Given the description of an element on the screen output the (x, y) to click on. 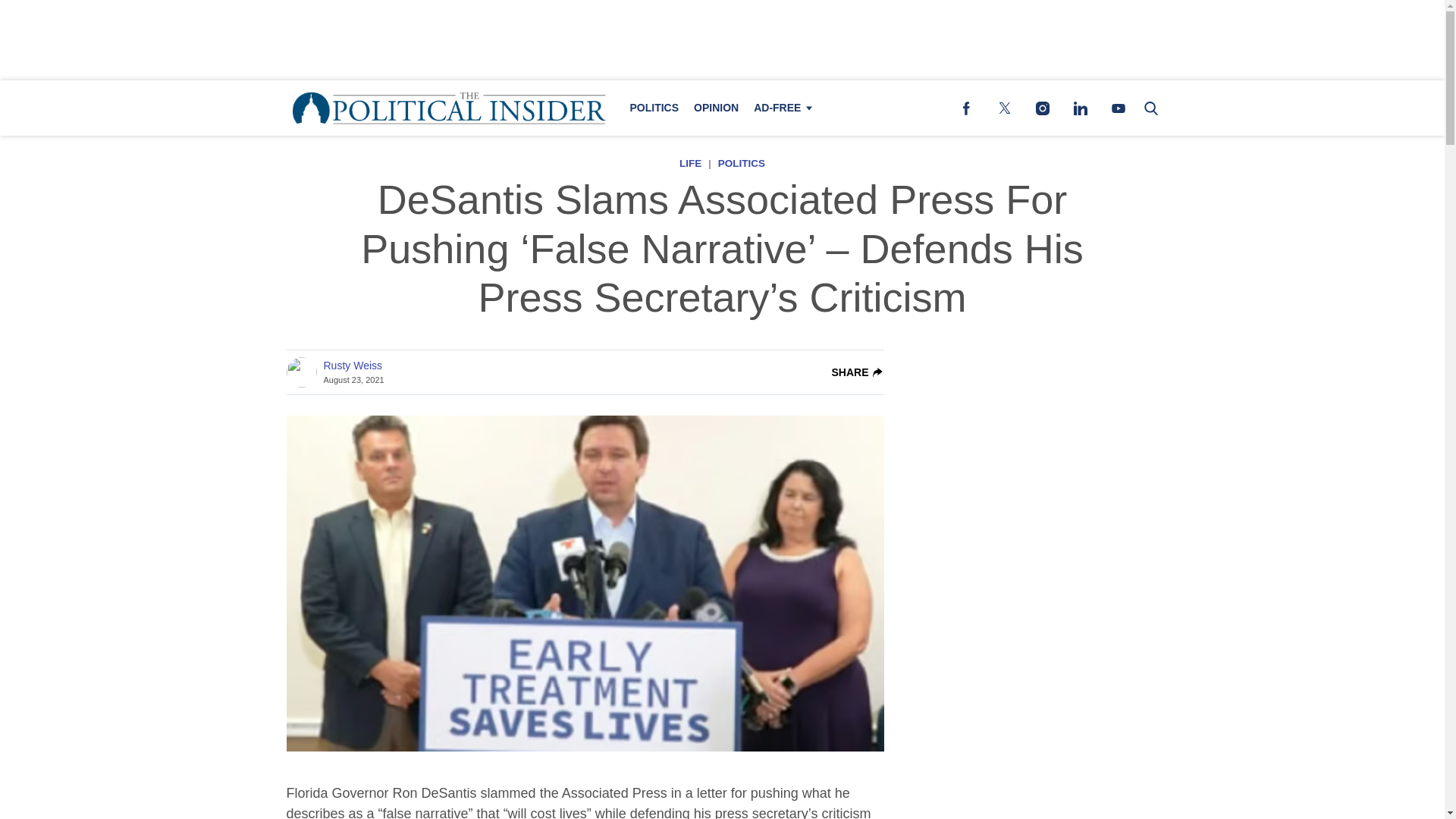
Follow us on Instagram (1042, 107)
POLITICS (741, 163)
AD-FREE (780, 107)
Connect with us on LinkedIn (1080, 107)
Posts by Rusty Weiss (352, 365)
Rusty Weiss (352, 365)
POLITICS (653, 107)
OPINION (715, 107)
Subscribe to our YouTube channel (1118, 107)
LIFE (690, 163)
Follow us on Facebook (966, 107)
Follow us on Twitter (1004, 107)
